Given the description of an element on the screen output the (x, y) to click on. 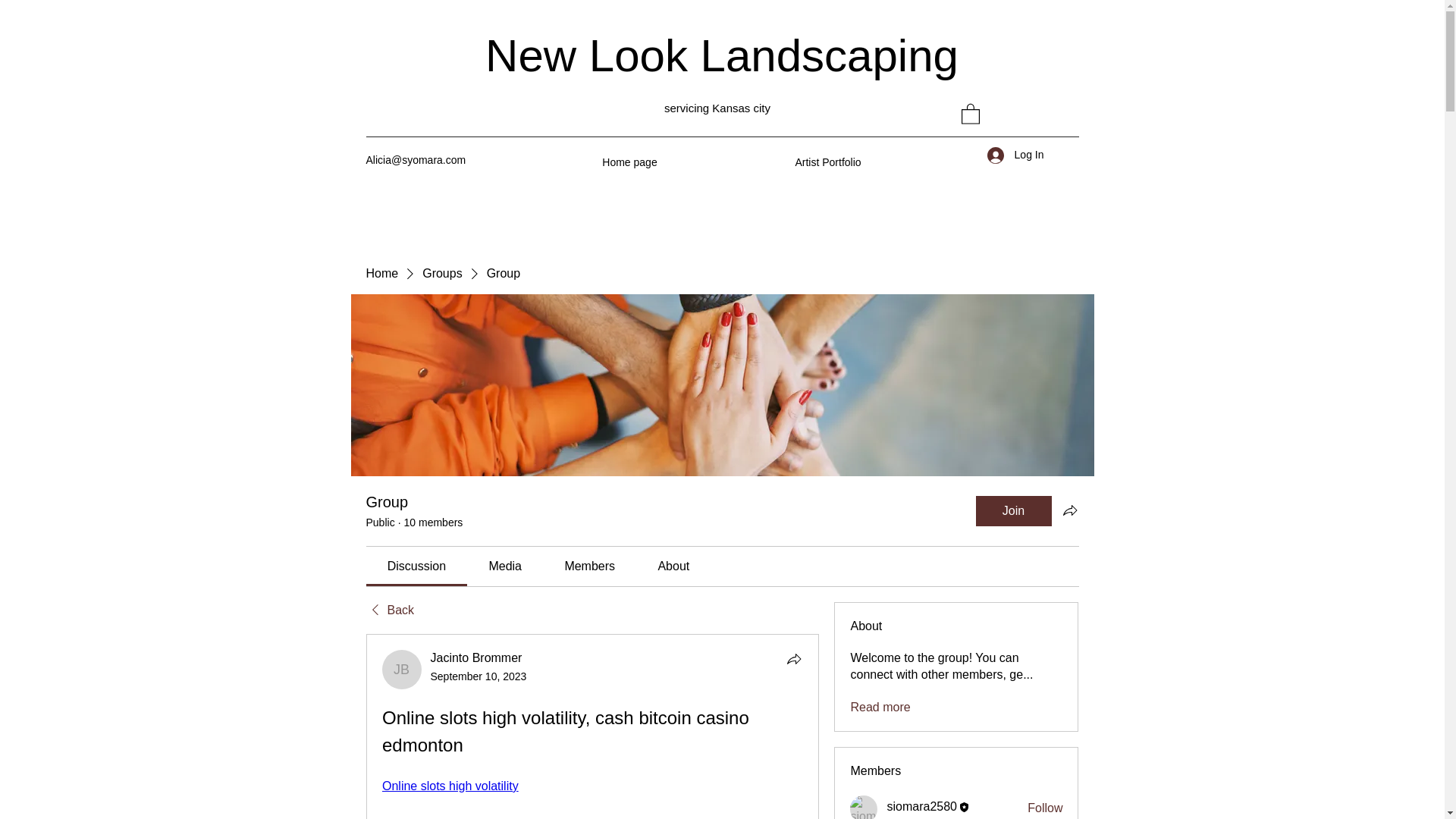
Home (381, 273)
Read more (880, 707)
siomara2580 (863, 807)
Back (389, 610)
September 10, 2023 (478, 676)
Log In (1015, 154)
Follow (1044, 808)
Online slots high volatility (449, 785)
siomara2580 (921, 806)
Home page (630, 161)
Groups (441, 273)
Jacinto Brommer (401, 669)
Join (1013, 511)
Artist Portfolio (828, 161)
Jacinto Brommer (476, 657)
